Given the description of an element on the screen output the (x, y) to click on. 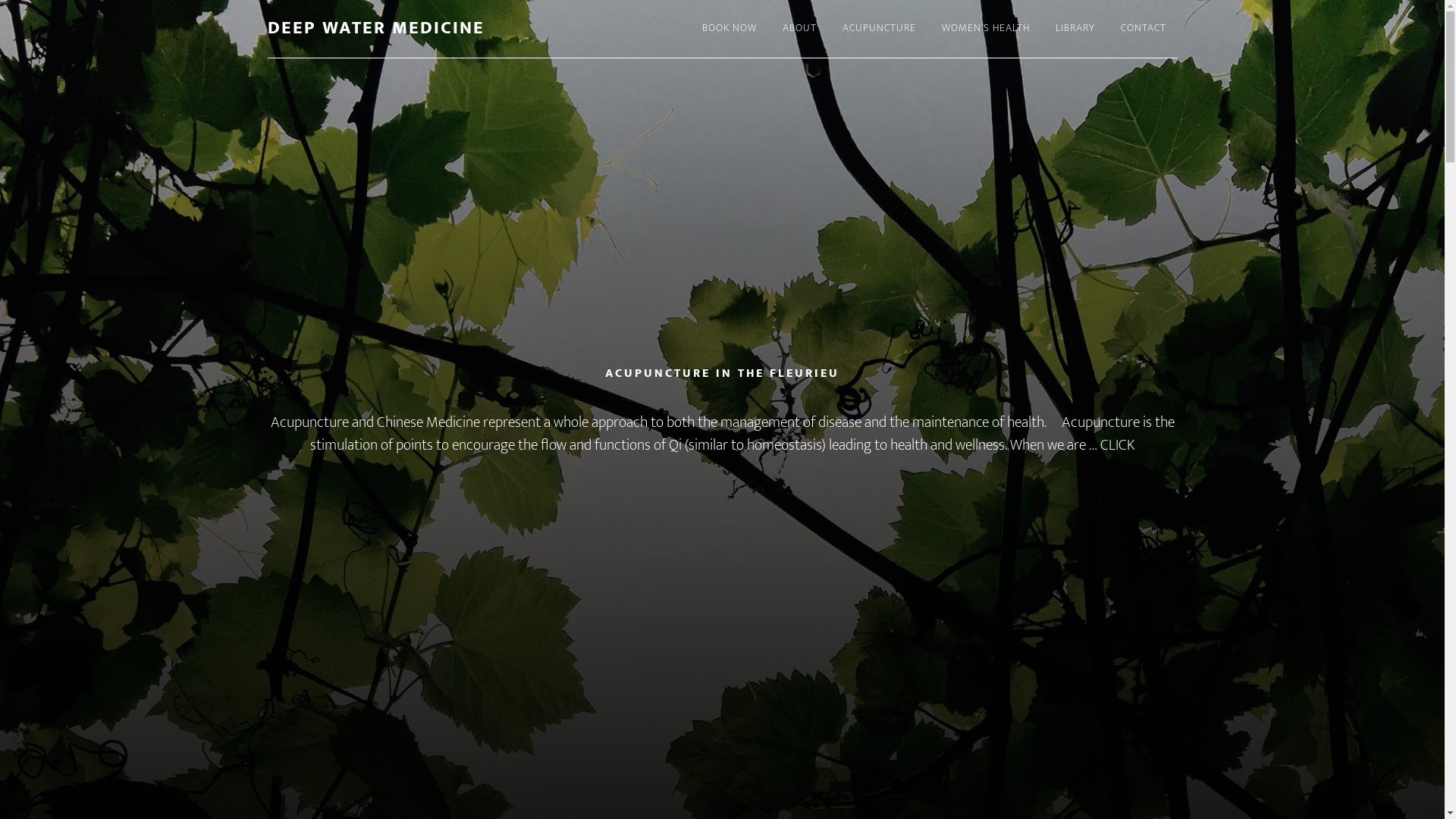
DEEP WATER MEDICINE Element type: text (374, 27)
ABOUT Element type: text (798, 28)
LIBRARY Element type: text (1074, 28)
BOOK NOW Element type: text (728, 28)
CONTACT Element type: text (1142, 28)
ACUPUNCTURE Element type: text (879, 28)
CLICK Element type: text (1117, 445)
